Given the description of an element on the screen output the (x, y) to click on. 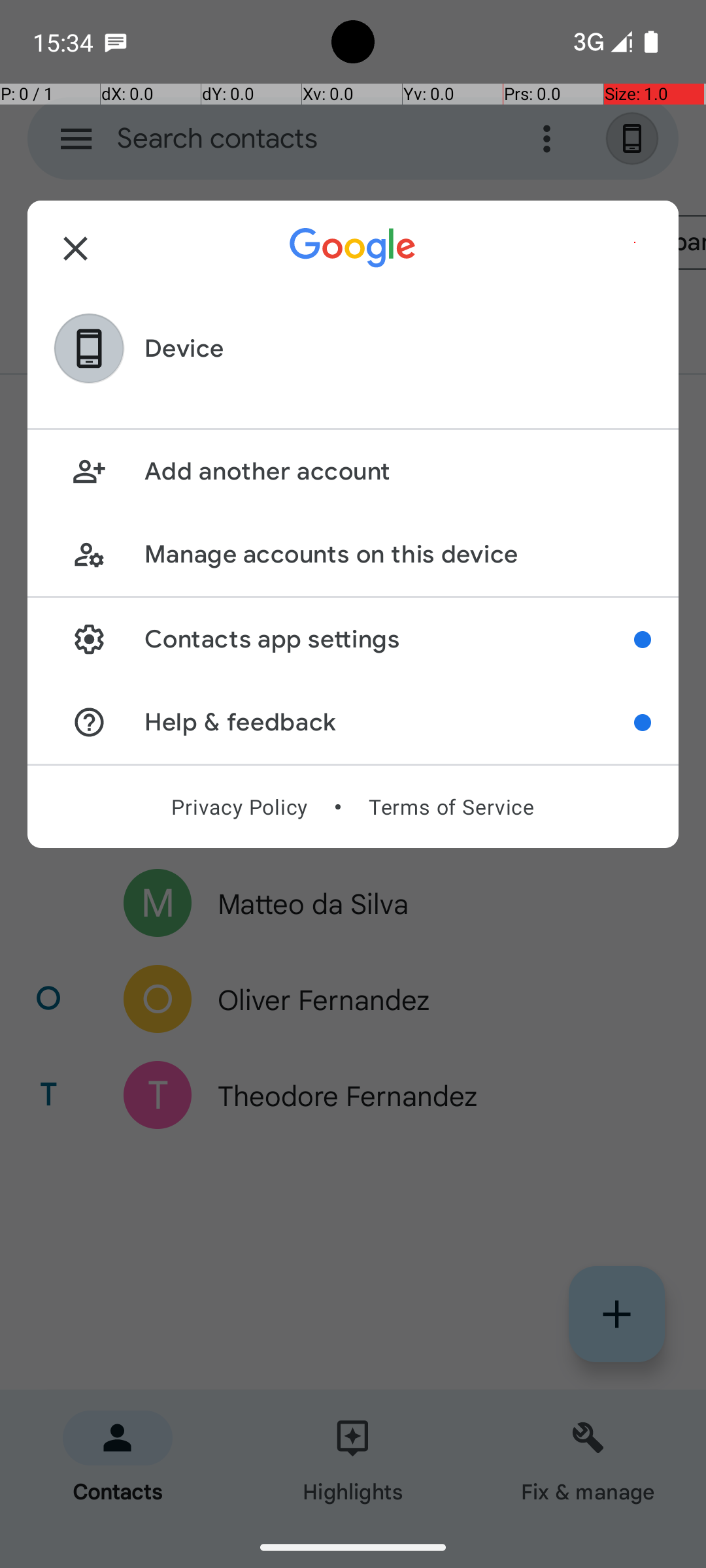
SMS Messenger notification: Martin Chen Element type: android.widget.ImageView (115, 41)
